Given the description of an element on the screen output the (x, y) to click on. 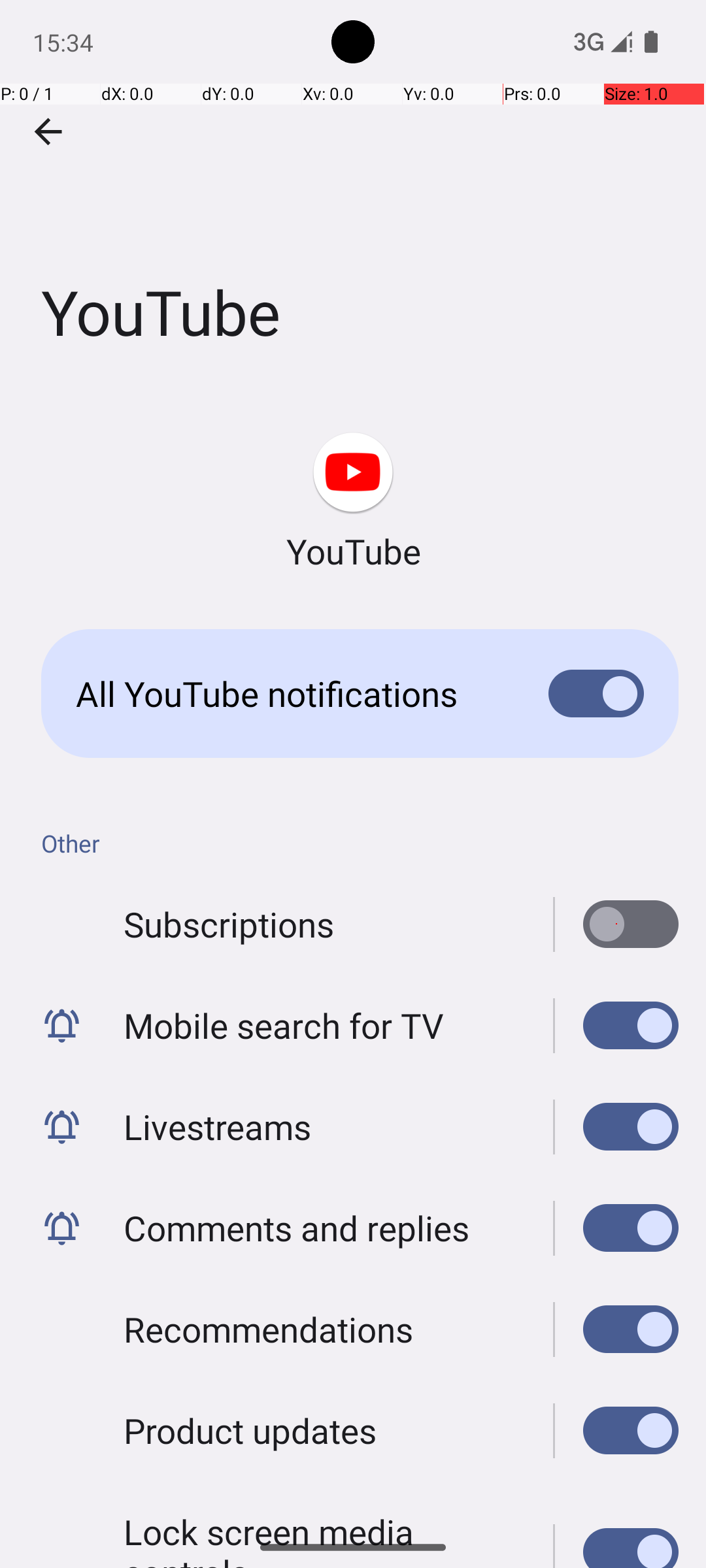
All YouTube notifications Element type: android.widget.TextView (291, 693)
Mobile search for TV Element type: android.widget.TextView (283, 1025)
Livestreams Element type: android.widget.TextView (217, 1126)
Comments and replies Element type: android.widget.TextView (296, 1227)
Recommendations Element type: android.widget.TextView (268, 1329)
Product updates Element type: android.widget.TextView (250, 1430)
Lock screen media controls Element type: android.widget.TextView (324, 1517)
